Given the description of an element on the screen output the (x, y) to click on. 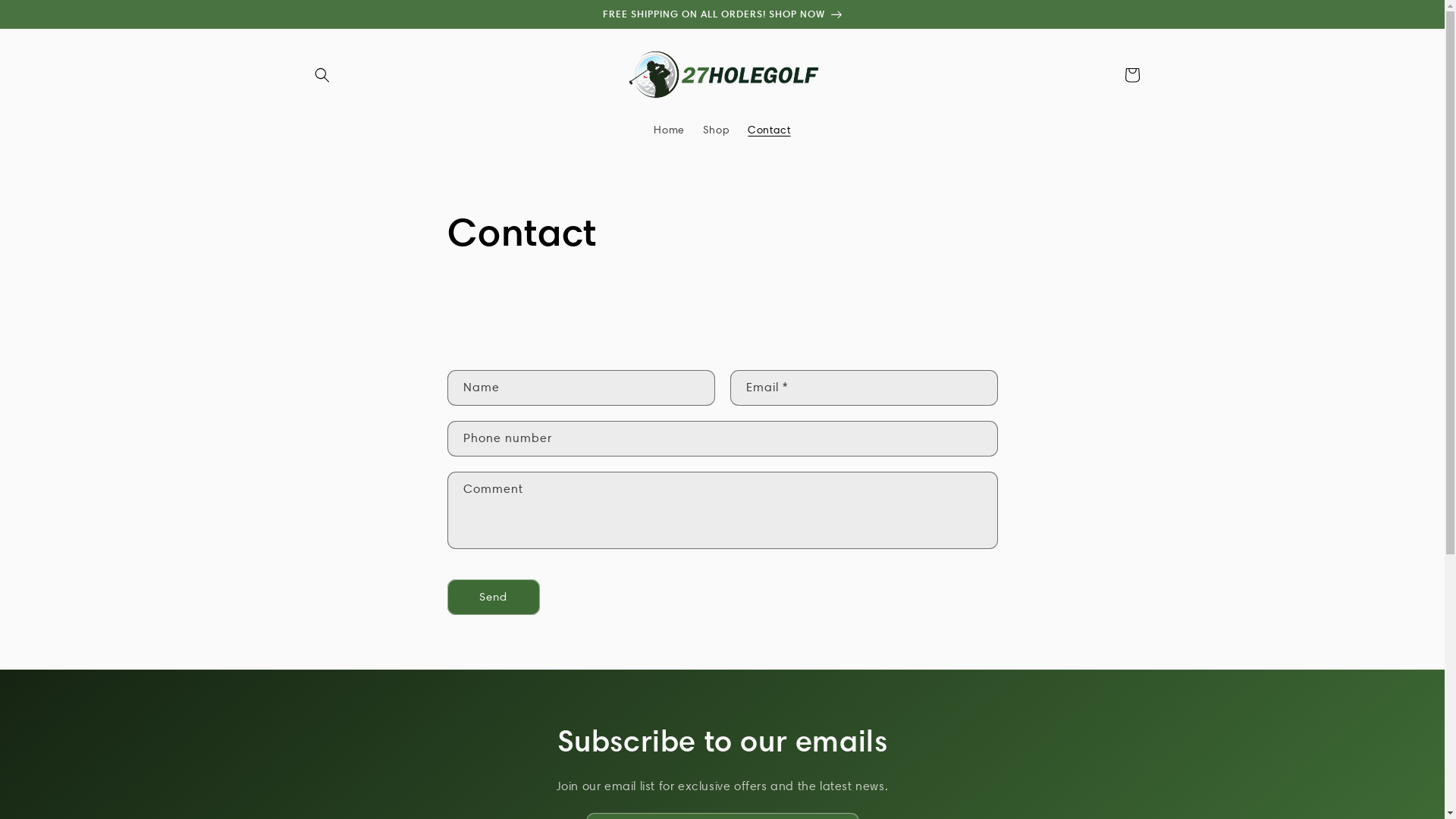
Contact Element type: text (768, 129)
Send Element type: text (493, 597)
Shop Element type: text (715, 129)
FREE SHIPPING ON ALL ORDERS! SHOP NOW Element type: text (722, 14)
Home Element type: text (668, 129)
Cart Element type: text (1131, 74)
